Given the description of an element on the screen output the (x, y) to click on. 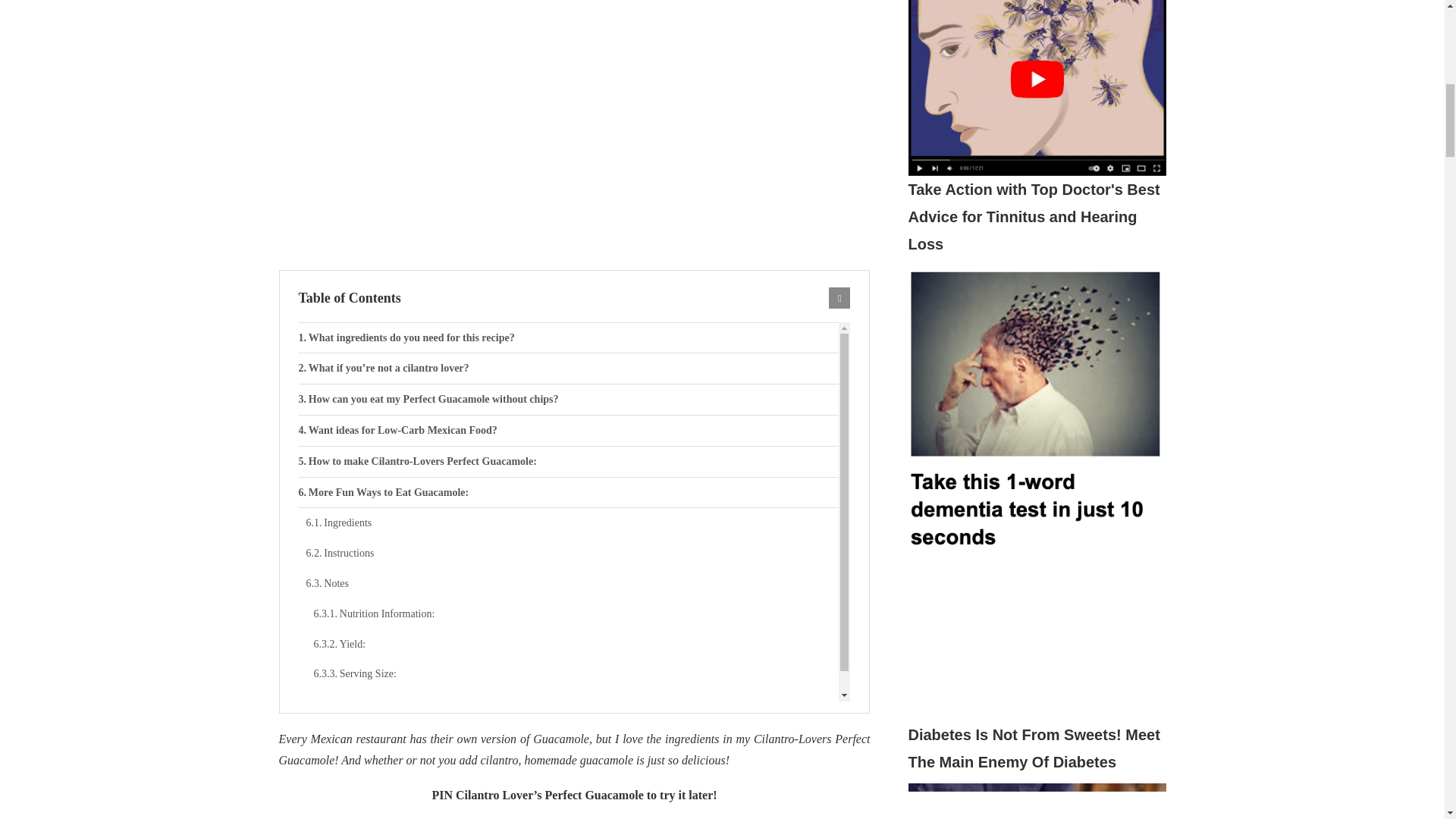
Notes (572, 583)
Instructions (572, 553)
How to make Cilantro-Lovers Perfect Guacamole: (569, 461)
2-650-cilantro-lovers-guacamole.jpg (574, 125)
Nutrition Information: (577, 613)
What ingredients do you need for this recipe? (569, 337)
More Fun Ways to Eat Guacamole: (569, 492)
Want ideas for Low-Carb Mexican Food? (569, 430)
Ingredients (572, 522)
How can you eat my Perfect Guacamole without chips? (569, 399)
